Given the description of an element on the screen output the (x, y) to click on. 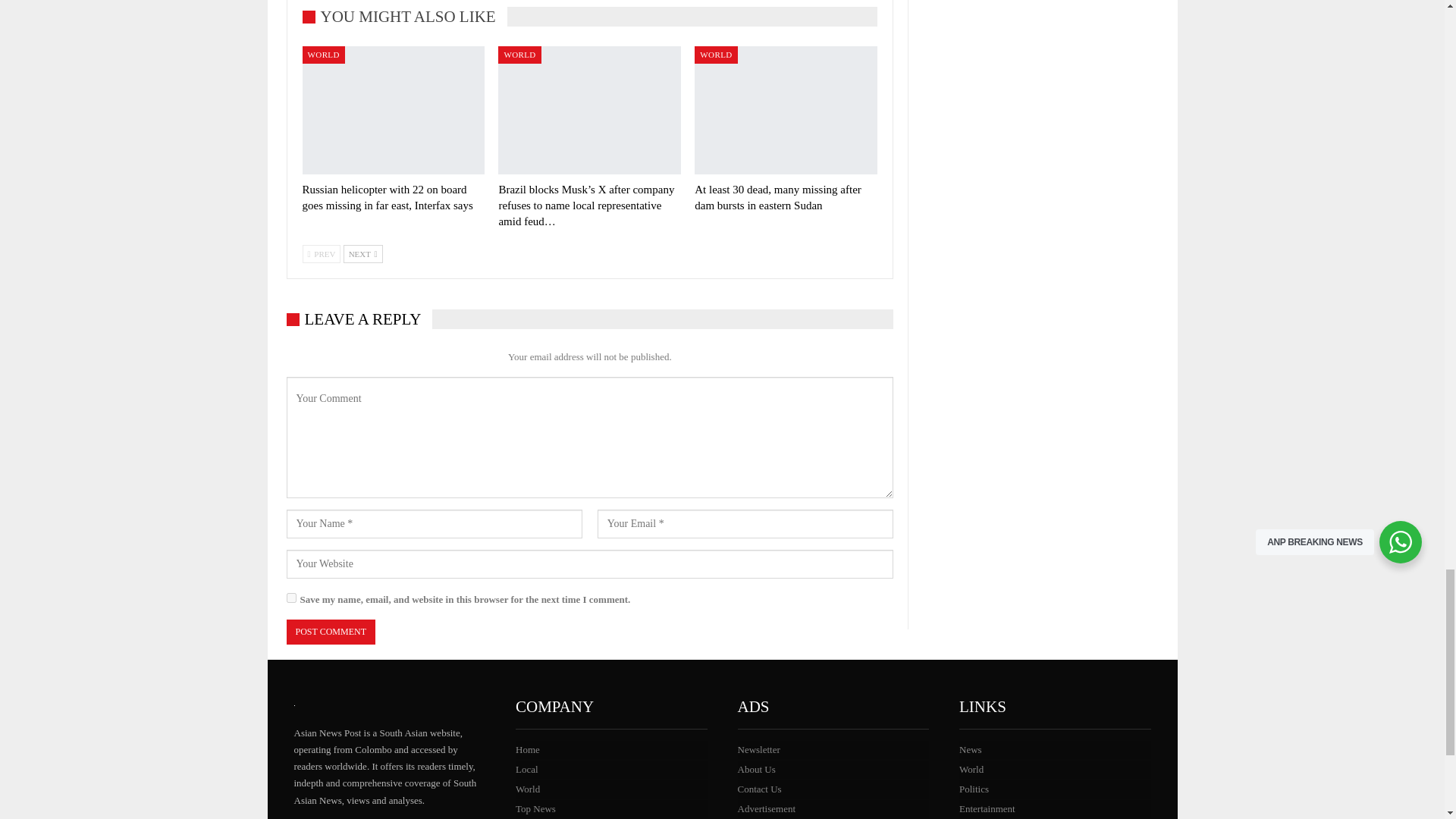
Post Comment (330, 631)
yes (291, 597)
